Given the description of an element on the screen output the (x, y) to click on. 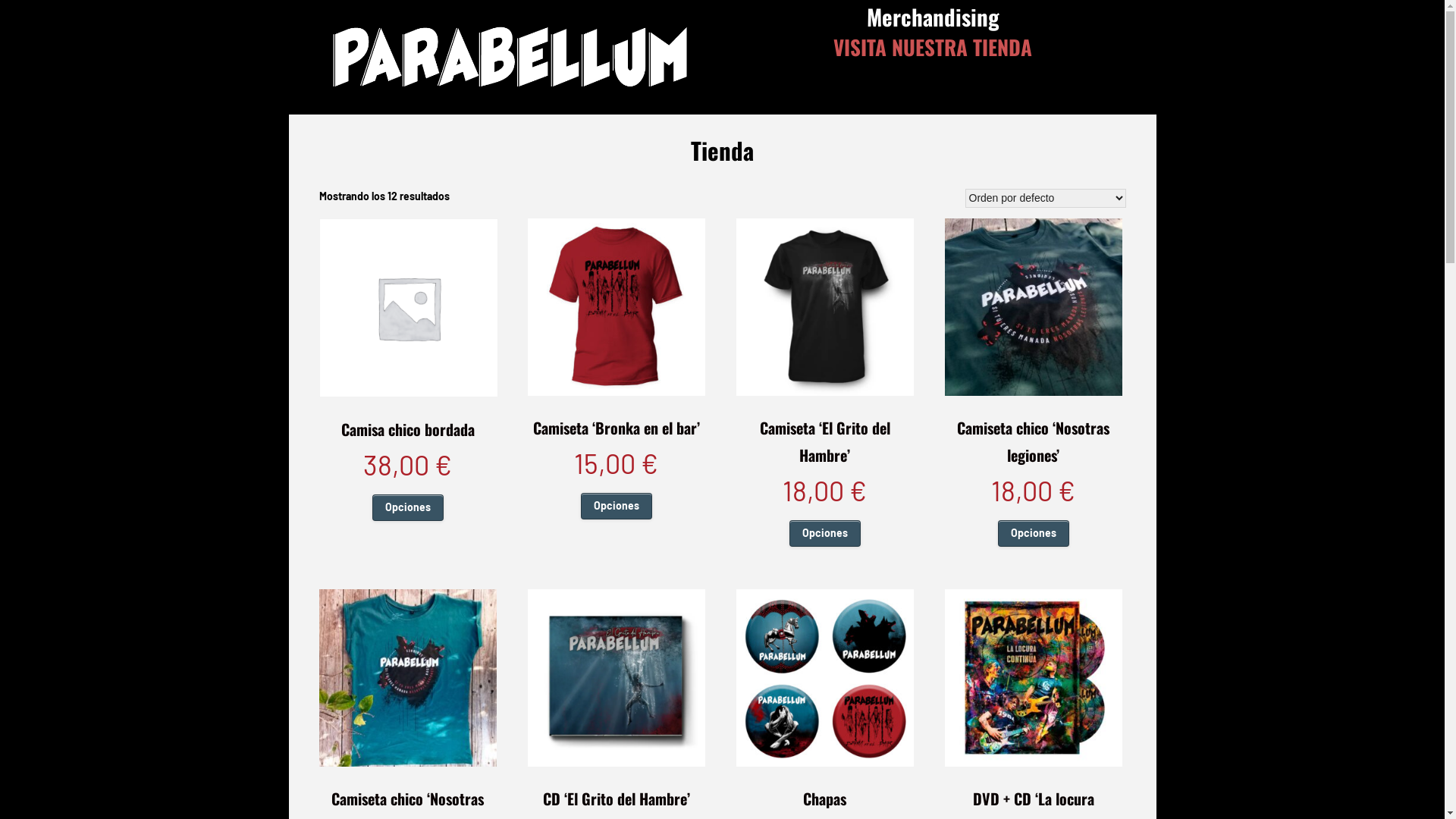
Opciones Element type: text (824, 533)
Opciones Element type: text (1033, 533)
VISITA NUESTRA TIENDA Element type: text (932, 46)
Opciones Element type: text (407, 507)
Merchandising Element type: text (932, 16)
Opciones Element type: text (616, 505)
